Given the description of an element on the screen output the (x, y) to click on. 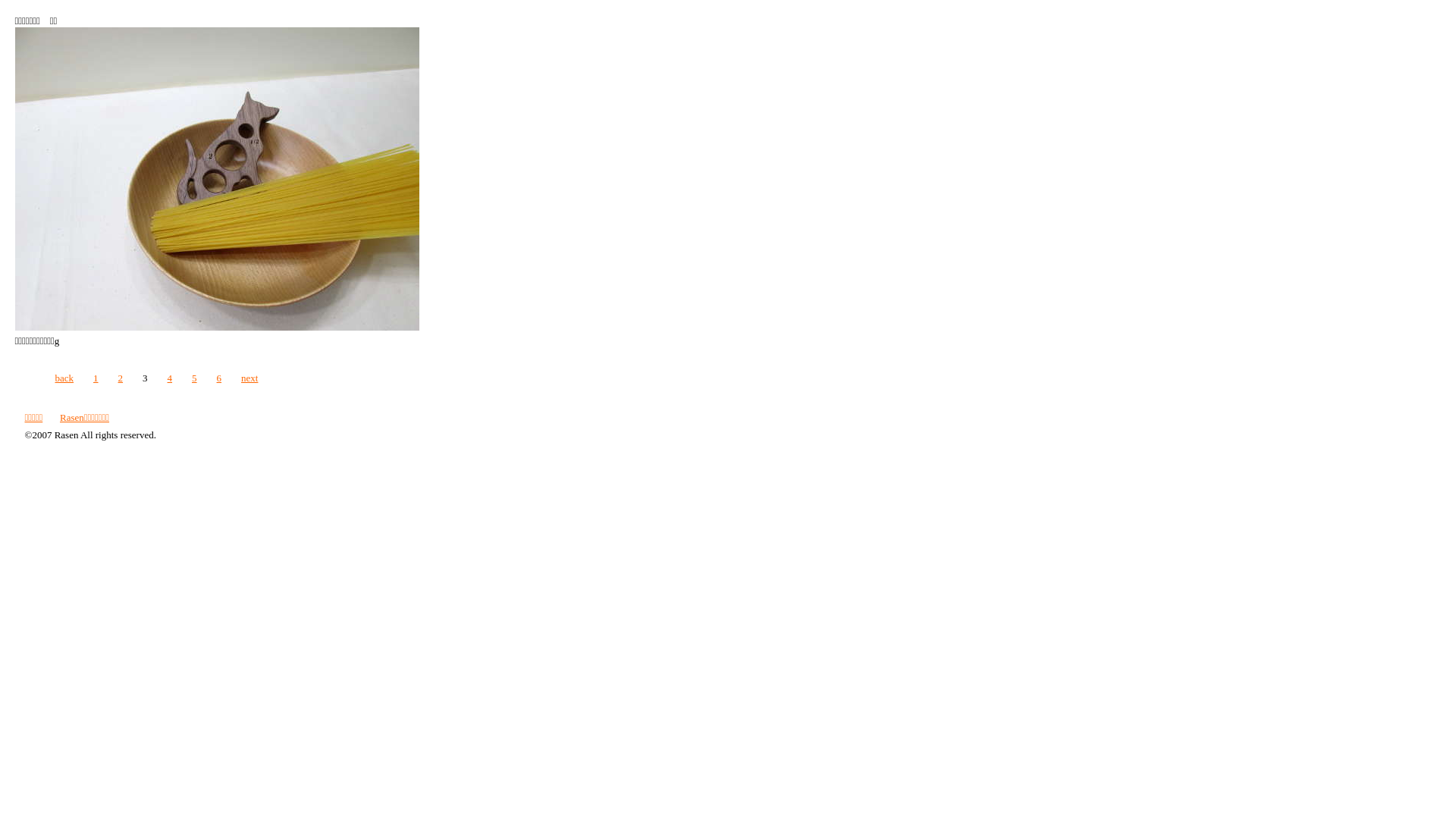
1 Element type: text (95, 376)
next Element type: text (249, 376)
5 Element type: text (194, 376)
4 Element type: text (169, 376)
6 Element type: text (219, 376)
back Element type: text (63, 376)
2 Element type: text (120, 376)
